Given the description of an element on the screen output the (x, y) to click on. 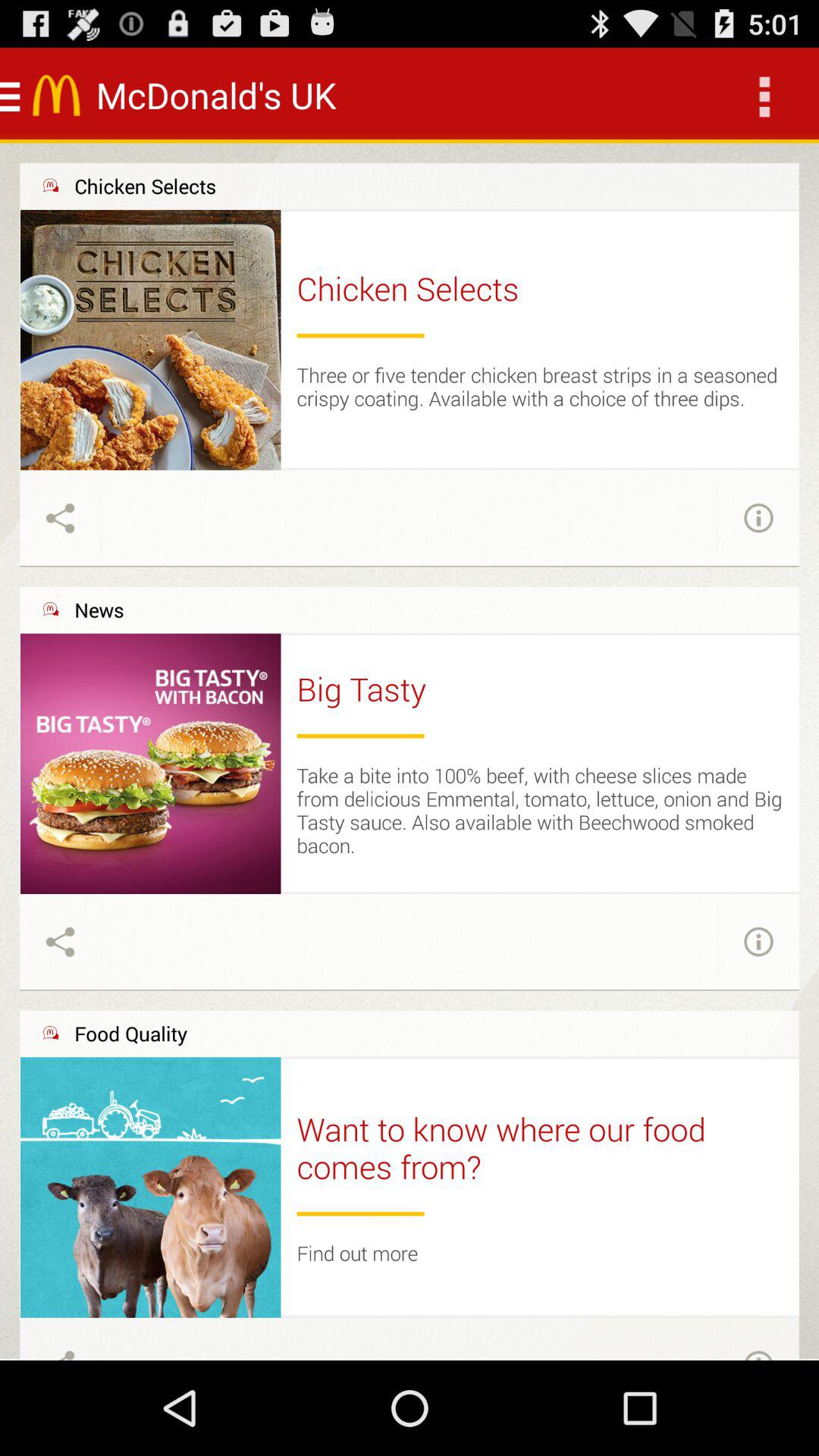
press take a bite item (539, 810)
